Given the description of an element on the screen output the (x, y) to click on. 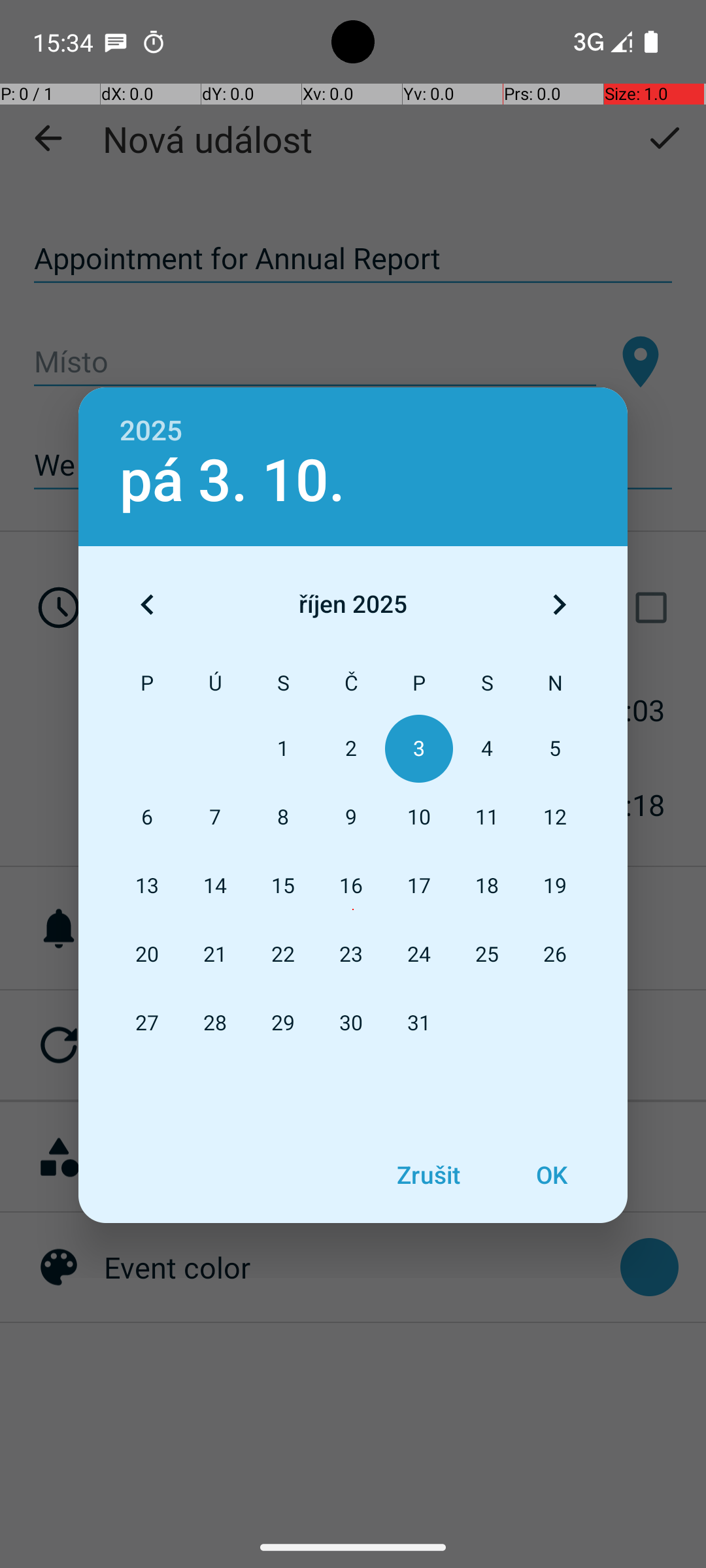
pá 3. 10. Element type: android.widget.TextView (232, 480)
Předchozí měsíc Element type: android.widget.ImageButton (146, 604)
Příští měsíc Element type: android.widget.ImageButton (558, 604)
